Given the description of an element on the screen output the (x, y) to click on. 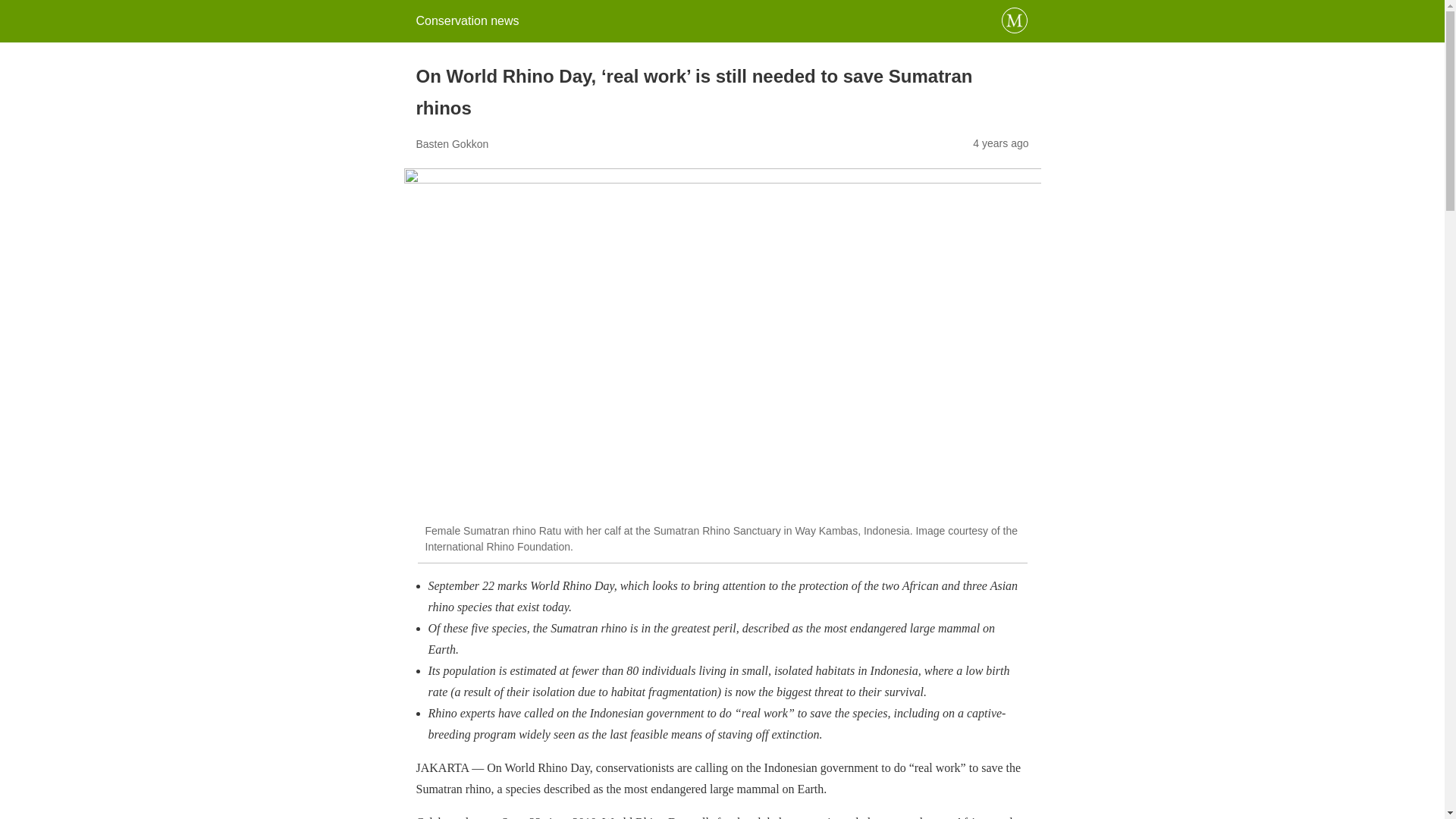
Conservation news (466, 20)
